Given the description of an element on the screen output the (x, y) to click on. 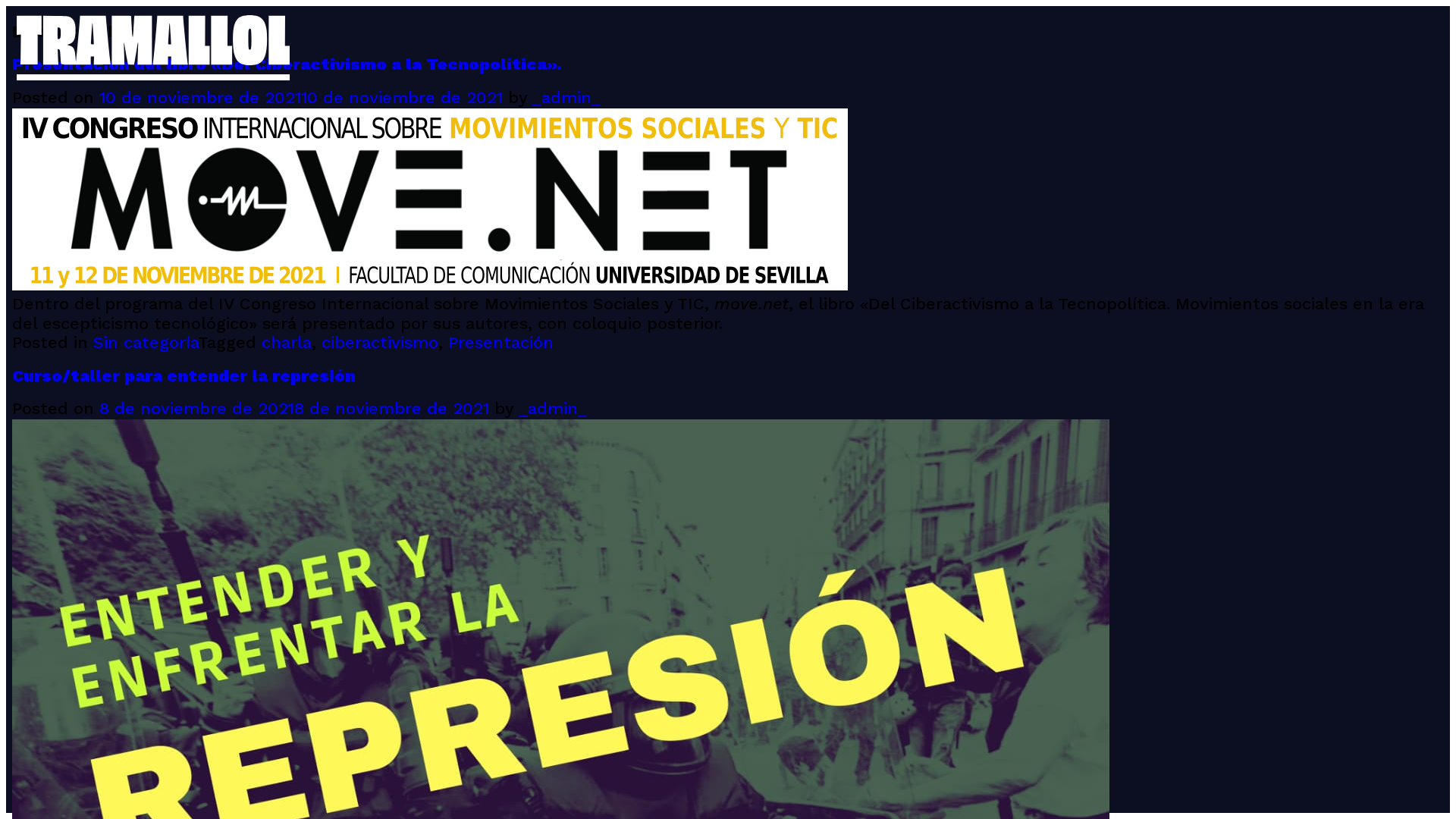
charla Element type: text (286, 343)
ciberactivismo Element type: text (379, 343)
_admin_ Element type: text (552, 409)
8 de noviembre de 20218 de noviembre de 2021 Element type: text (294, 409)
Tramallol Element type: text (50, 94)
Skip to content Element type: text (5, 5)
10 de noviembre de 202110 de noviembre de 2021 Element type: text (300, 98)
_admin_ Element type: text (566, 98)
